Given the description of an element on the screen output the (x, y) to click on. 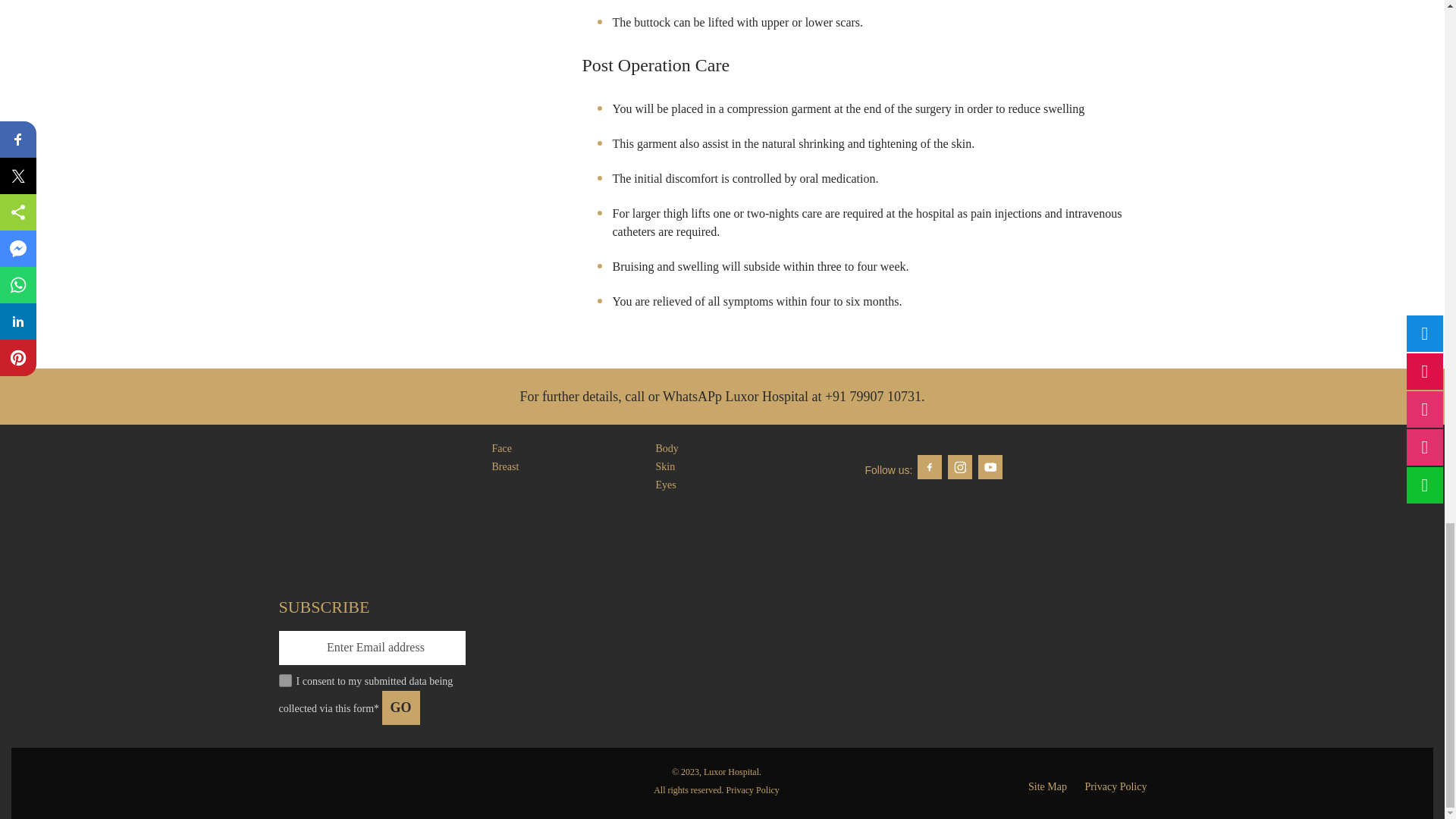
Go (400, 707)
Enter Email address (372, 647)
on (285, 680)
